Given the description of an element on the screen output the (x, y) to click on. 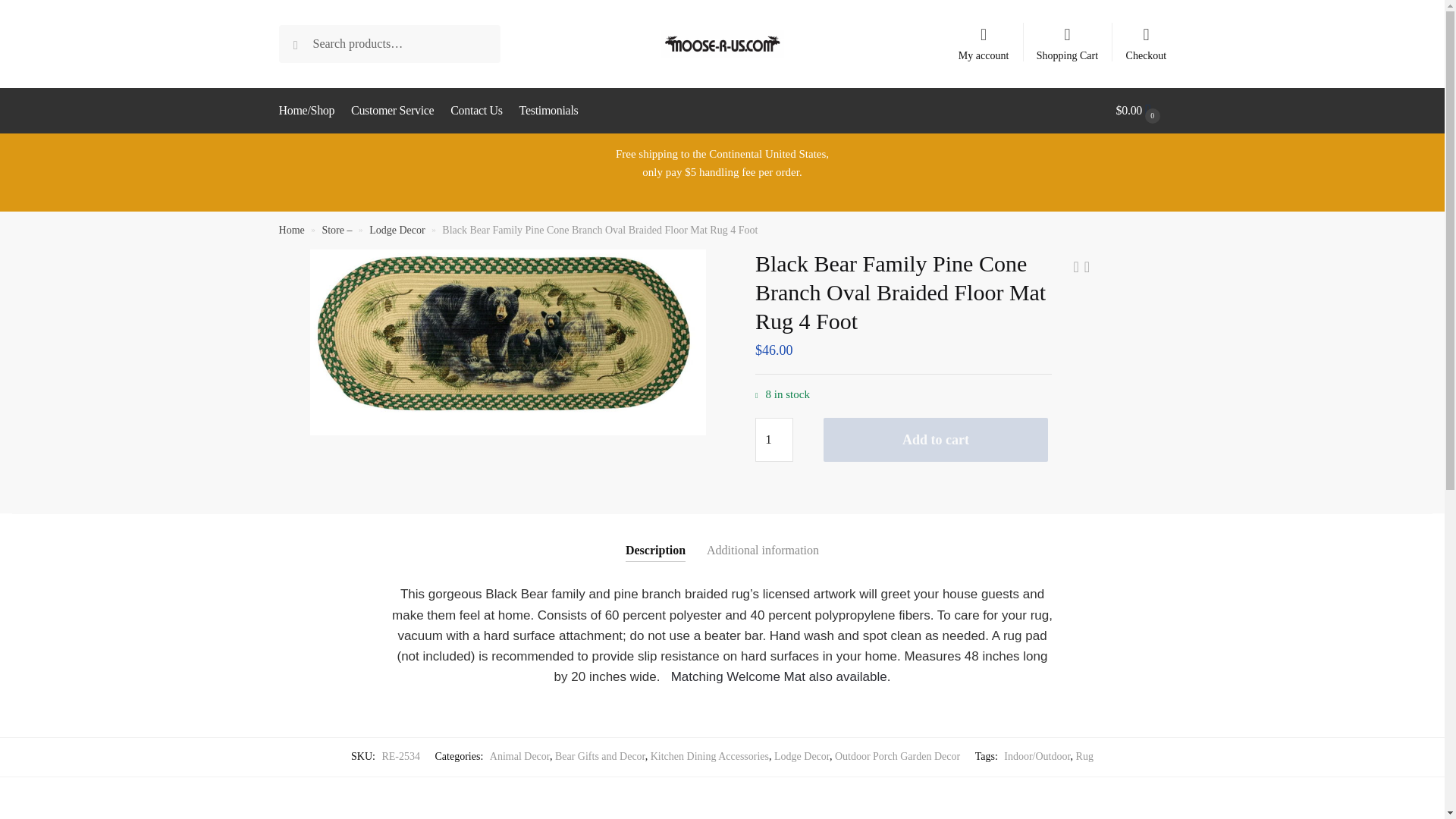
Lodge Decor (801, 756)
Checkout (1145, 37)
Additional information (762, 537)
Shopping Cart (1067, 37)
Customer Service (392, 110)
Testimonials (548, 110)
My account (983, 37)
Home (291, 229)
Outdoor Porch Garden Decor (896, 756)
ovalbraidedbearlargerug (507, 341)
